Given the description of an element on the screen output the (x, y) to click on. 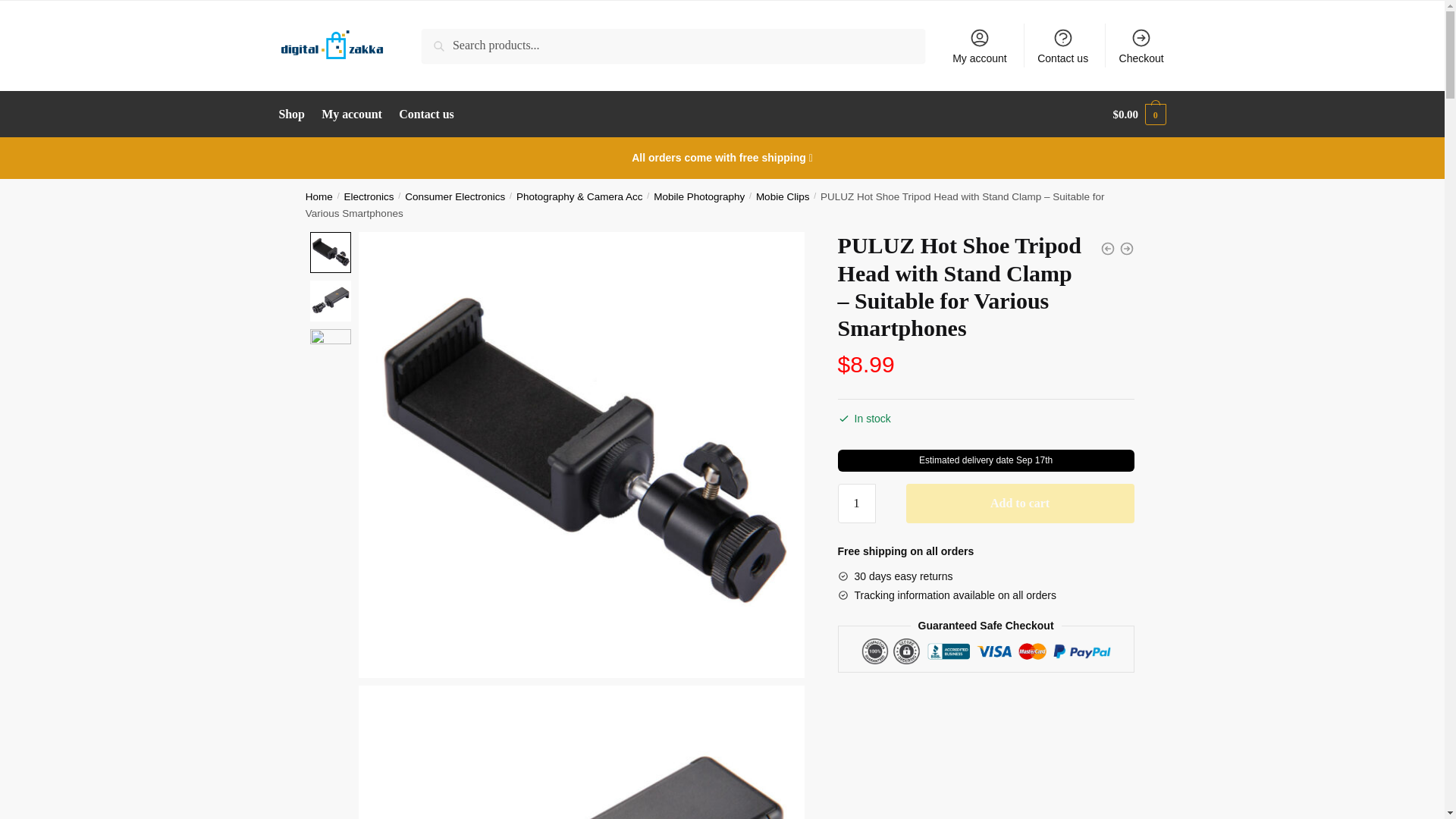
Electronics (368, 196)
Search (443, 38)
My account (979, 45)
Checkout (1141, 45)
Home (319, 196)
Contact us (427, 114)
Mobile Photography (698, 196)
Add to cart (1019, 503)
0 (330, 300)
